Given the description of an element on the screen output the (x, y) to click on. 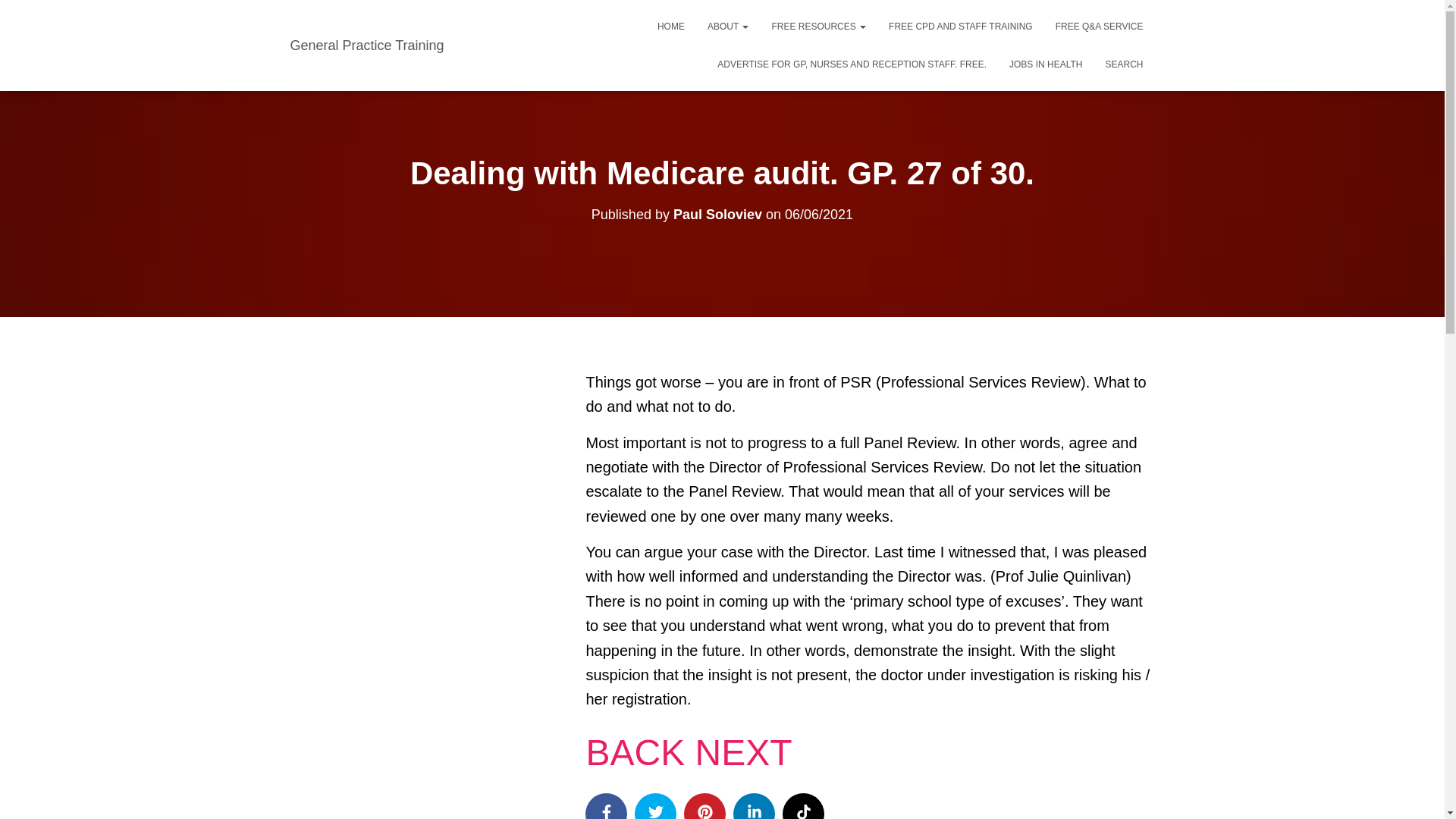
ADVERTISE FOR GP, NURSES AND RECEPTION STAFF. FREE. (851, 64)
About (727, 26)
FREE RESOURCES (818, 26)
Home (670, 26)
ABOUT (727, 26)
JOBS IN HEALTH (1045, 64)
Free Resources (818, 26)
NEXT (743, 752)
SEARCH (1123, 64)
General Practice Training (367, 45)
FREE CPD AND STAFF TRAINING (960, 26)
HOME (670, 26)
BACK (634, 752)
General Practice Training (367, 45)
Paul Soloviev (716, 214)
